Given the description of an element on the screen output the (x, y) to click on. 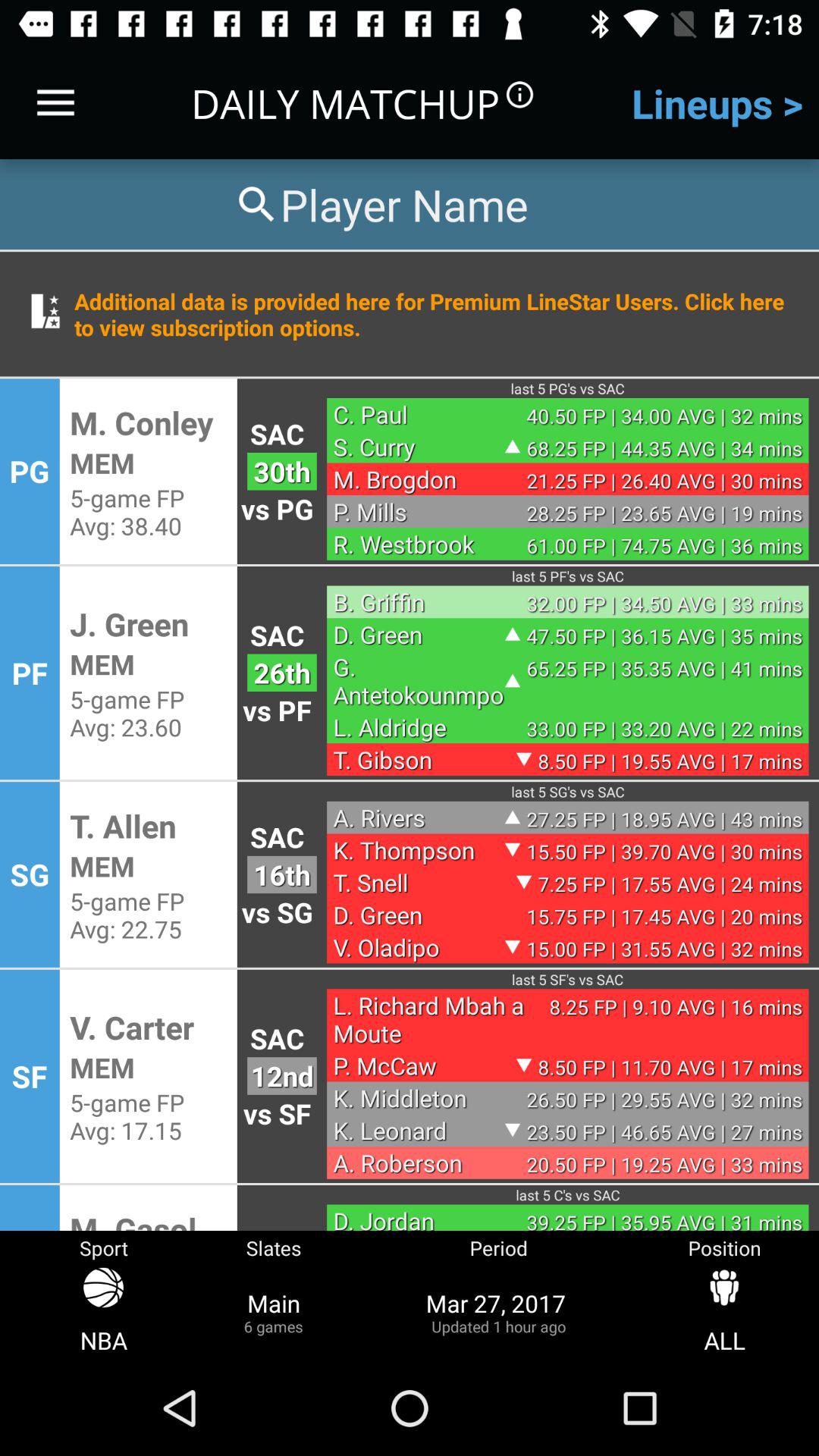
choose icon below the sac icon (281, 672)
